Given the description of an element on the screen output the (x, y) to click on. 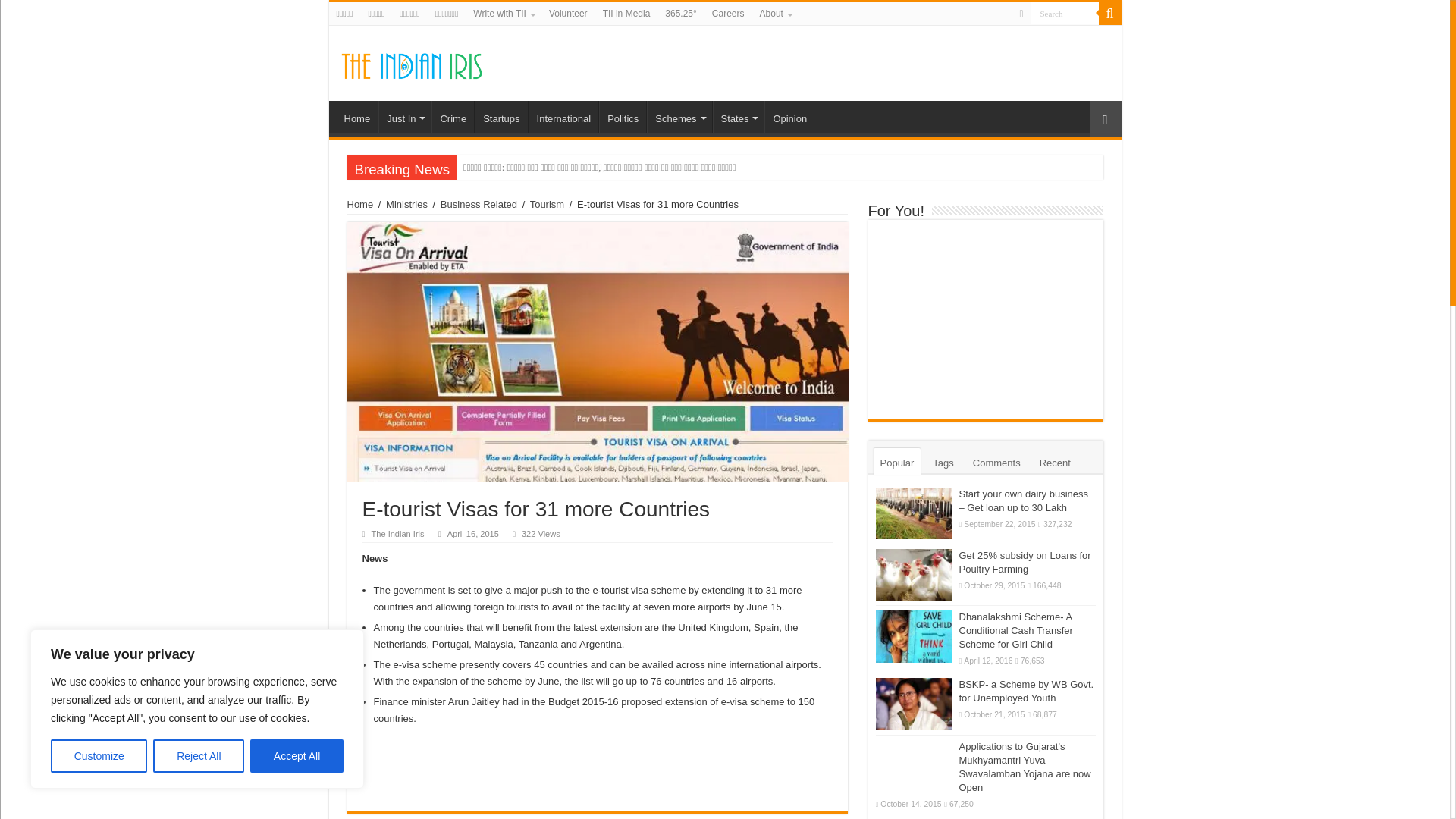
Search (1063, 13)
Accept All (296, 756)
The Indian Iris (411, 63)
Customize (98, 756)
Reject All (198, 756)
Search (1063, 13)
